Given the description of an element on the screen output the (x, y) to click on. 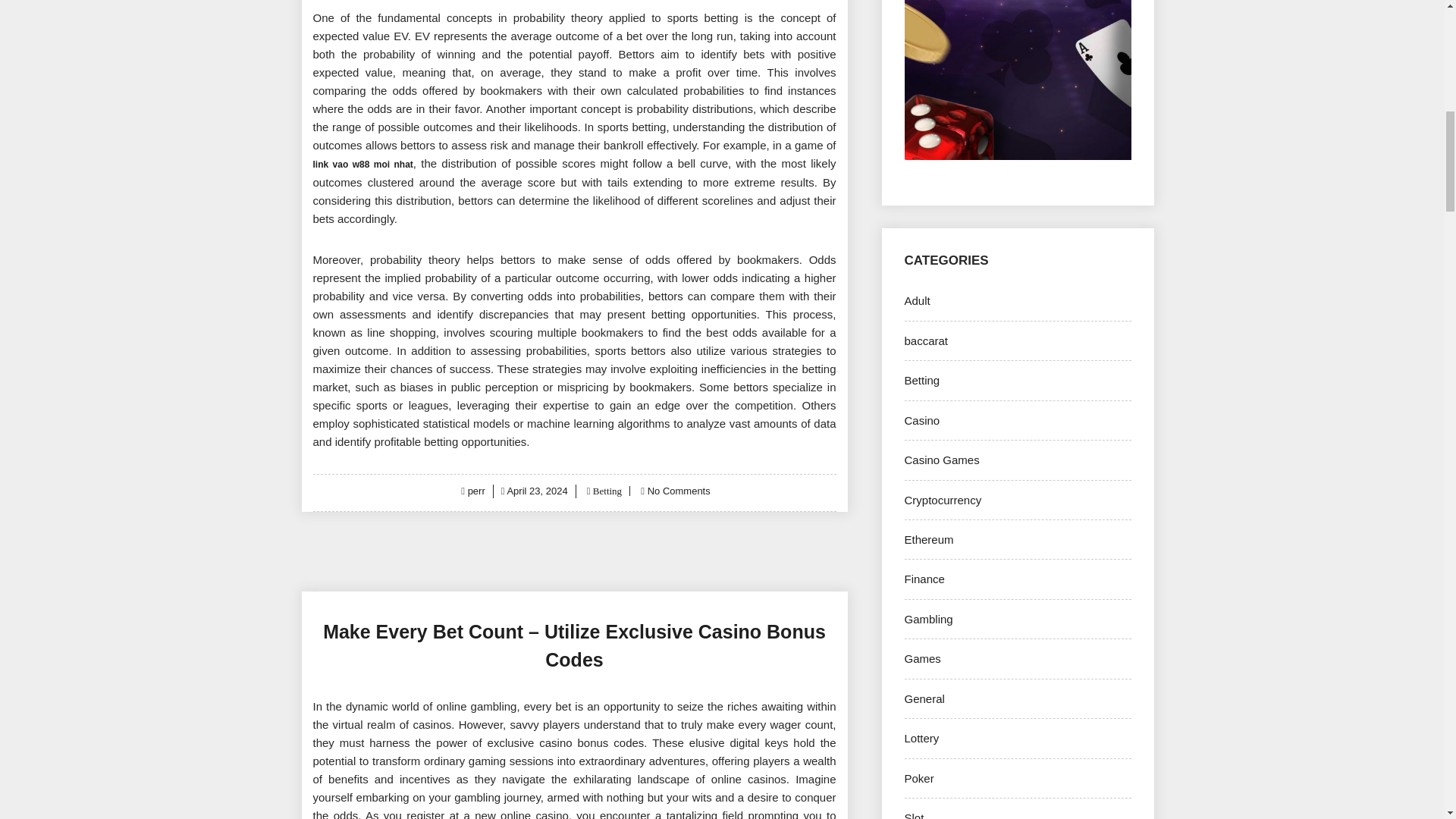
perr (475, 490)
link vao w88 moi nhat (362, 163)
Betting (607, 490)
April 23, 2024 (536, 490)
No Comments (678, 490)
